Given the description of an element on the screen output the (x, y) to click on. 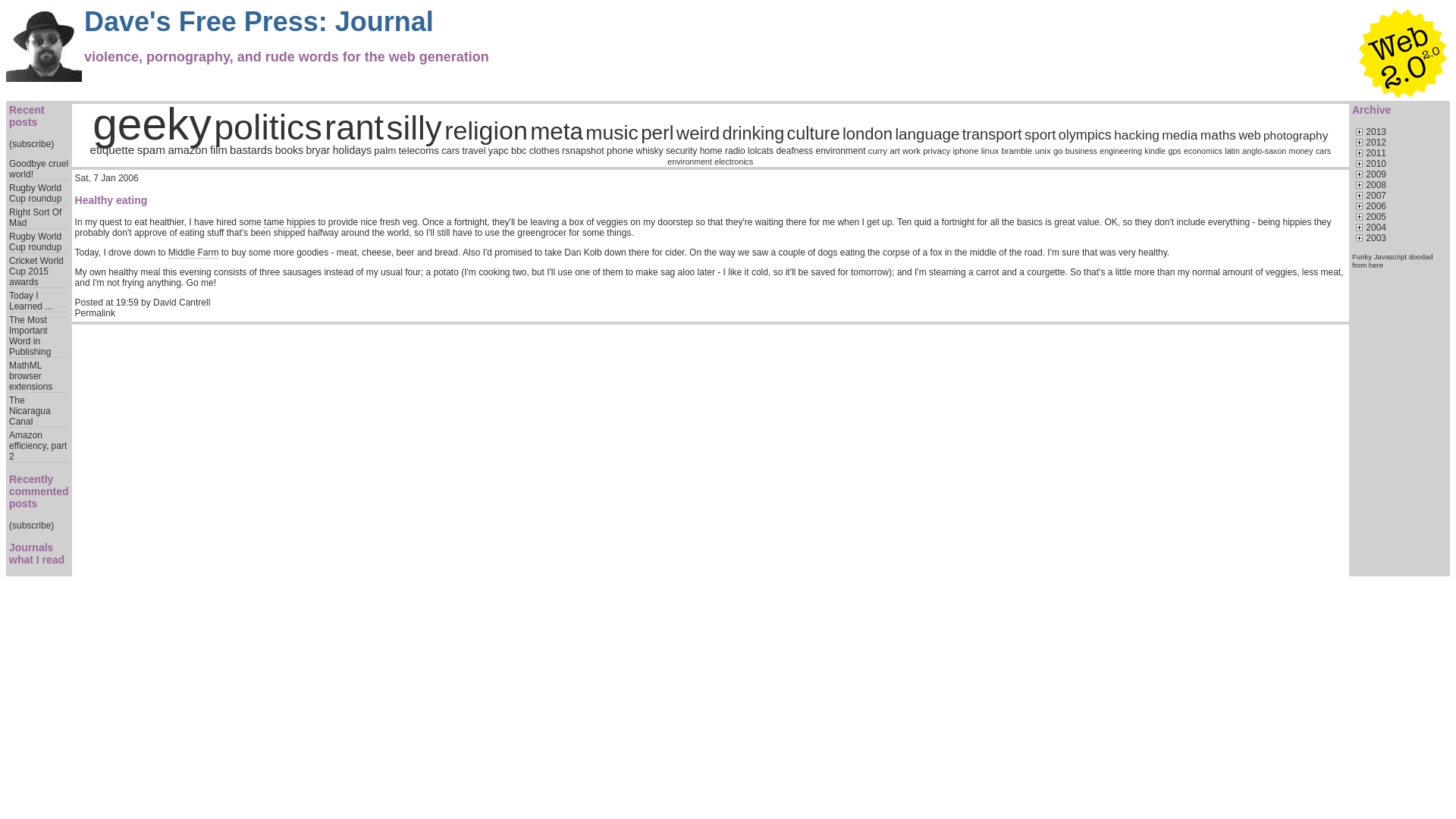
11 posts (1135, 134)
Cricket World Cup 2015 awards (36, 271)
silly (414, 127)
geeky (152, 123)
20 posts (813, 133)
Recent posts (26, 115)
Dave's Free Press: Journal (258, 20)
The Nicaragua Canal (29, 410)
73 posts (152, 123)
53 posts (354, 127)
